Given the description of an element on the screen output the (x, y) to click on. 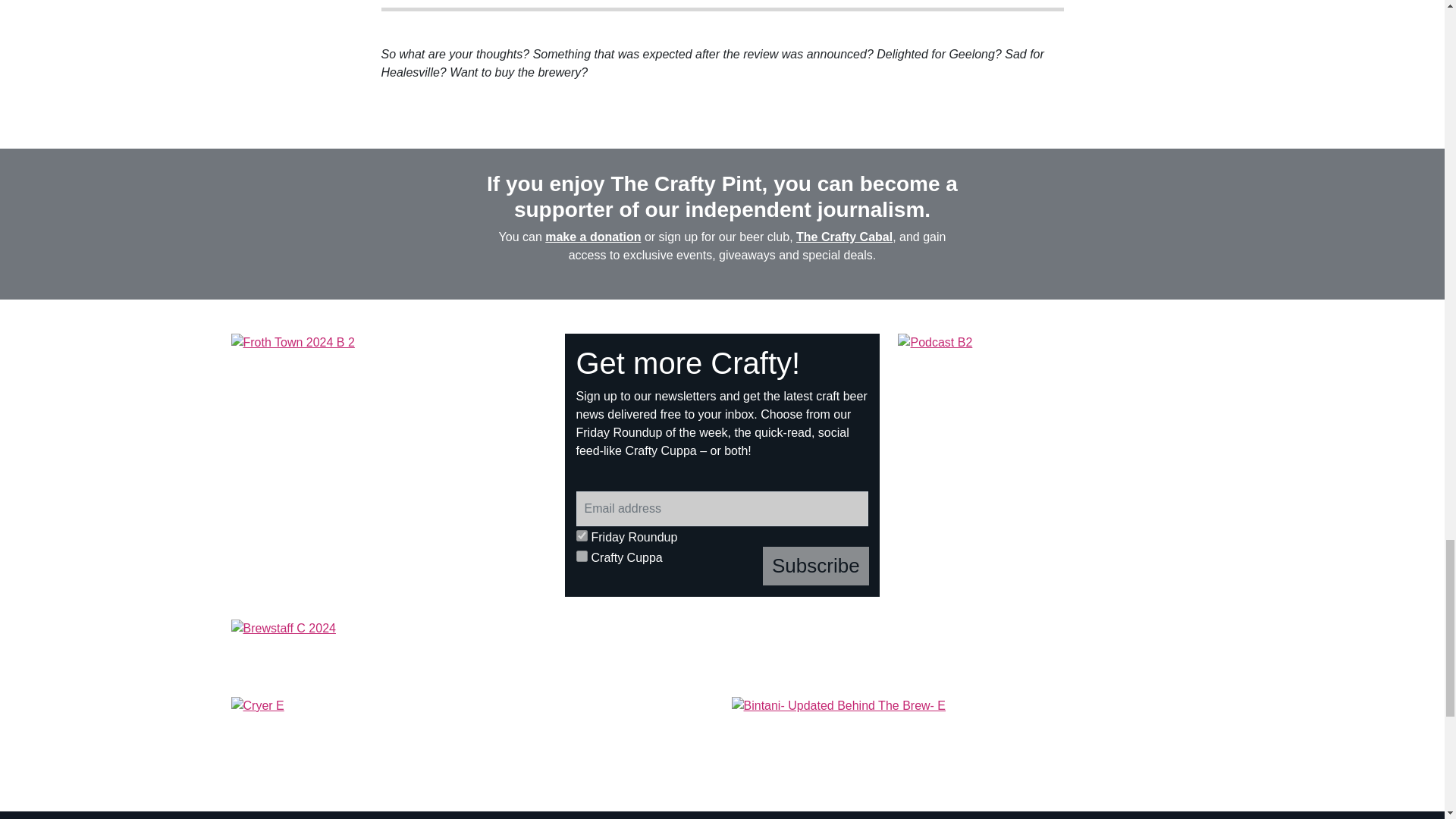
Podcast B2 (1055, 465)
Froth Town 2024 B 2 (389, 465)
cuppa (582, 555)
Cryer E (471, 736)
Subscribe (815, 566)
Brewstaff C 2024 (721, 651)
friday (582, 535)
Bintani- Updated Behind The Brew- E (971, 736)
